Given the description of an element on the screen output the (x, y) to click on. 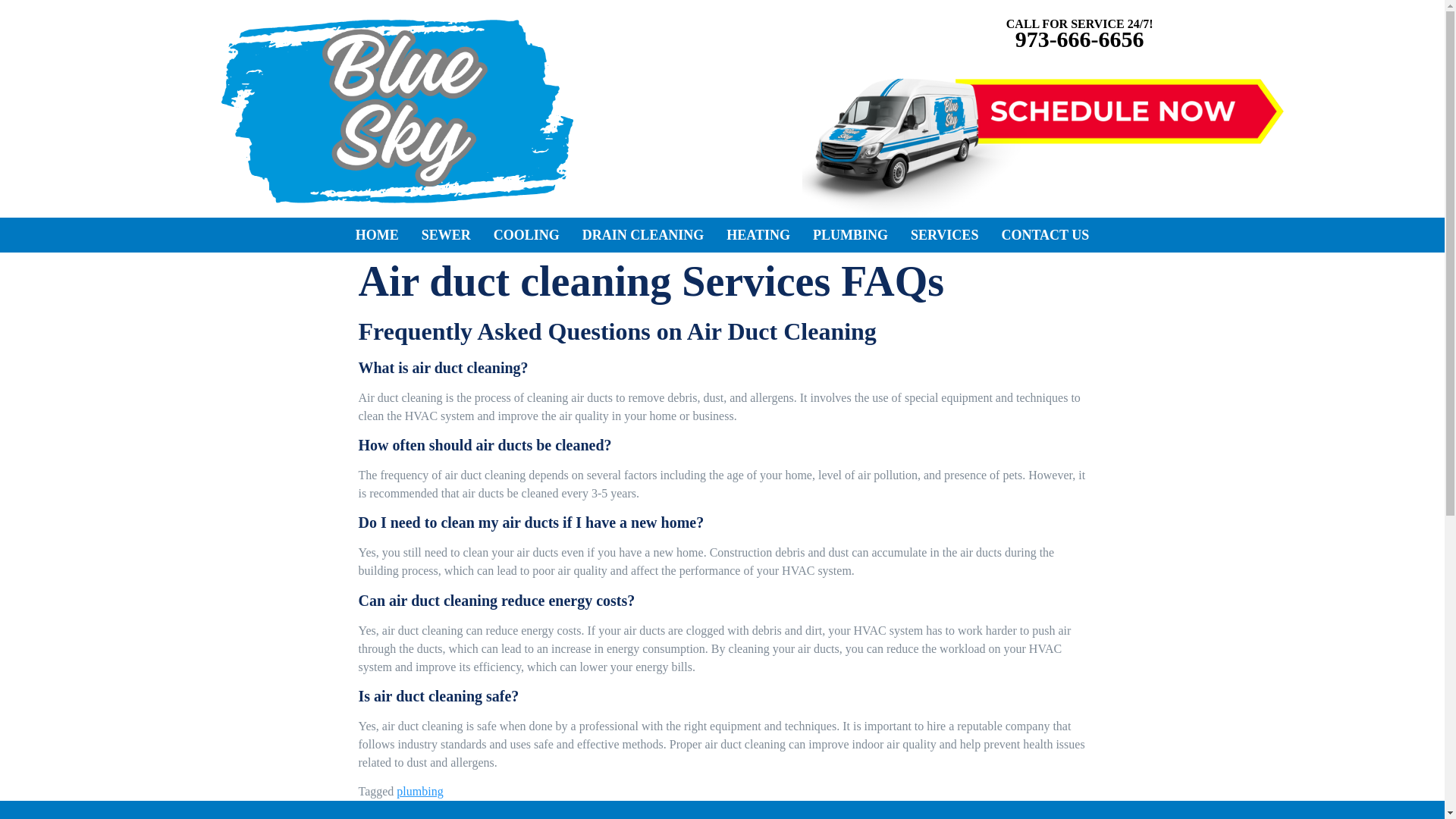
SERVICES (944, 234)
PLUMBING (850, 234)
COOLING (525, 234)
CONTACT US (1045, 234)
DRAIN CLEANING (643, 234)
HOME (376, 234)
HEATING (758, 234)
SEWER (445, 234)
